Given the description of an element on the screen output the (x, y) to click on. 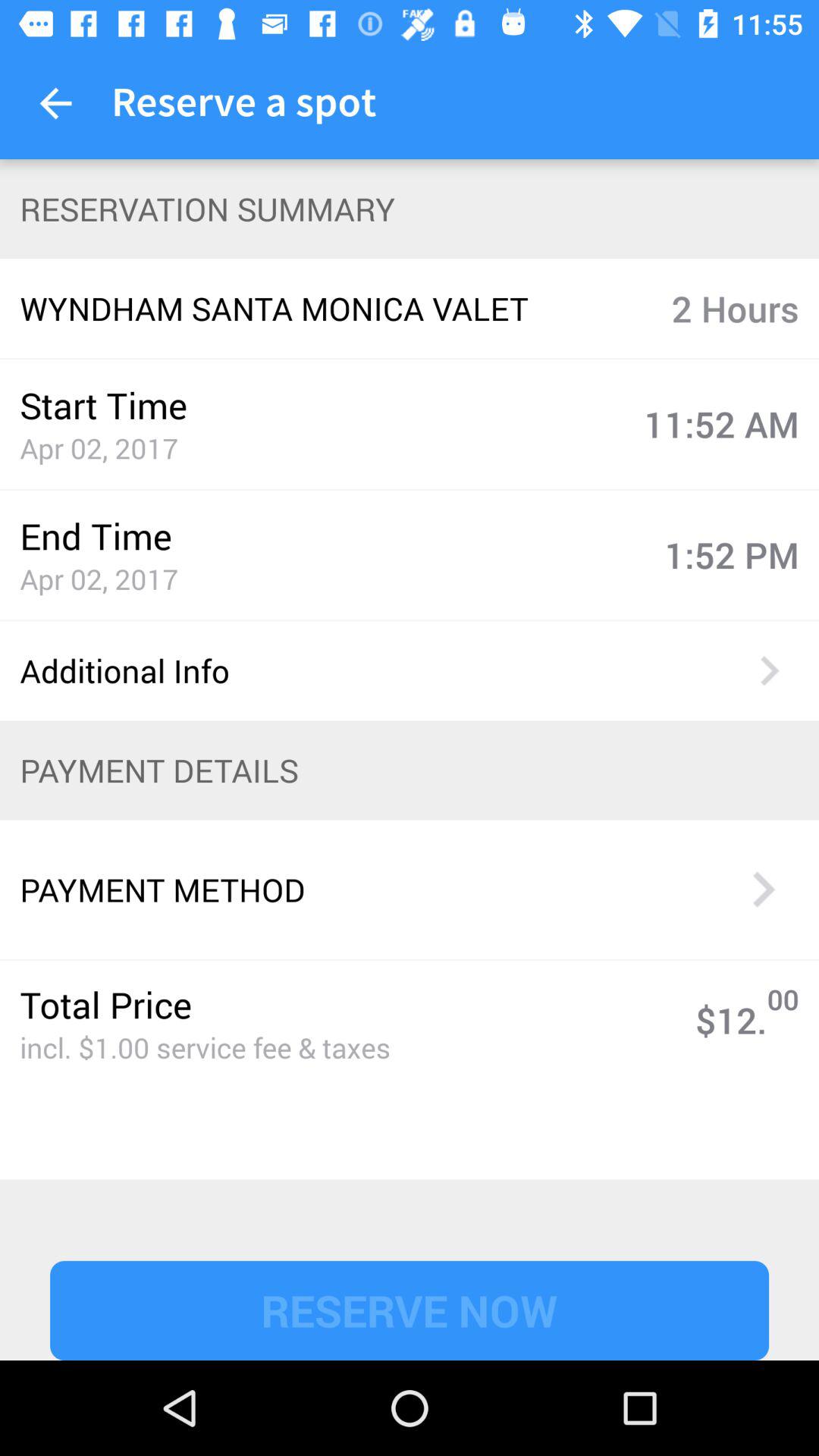
click item above reservation summary item (55, 103)
